Given the description of an element on the screen output the (x, y) to click on. 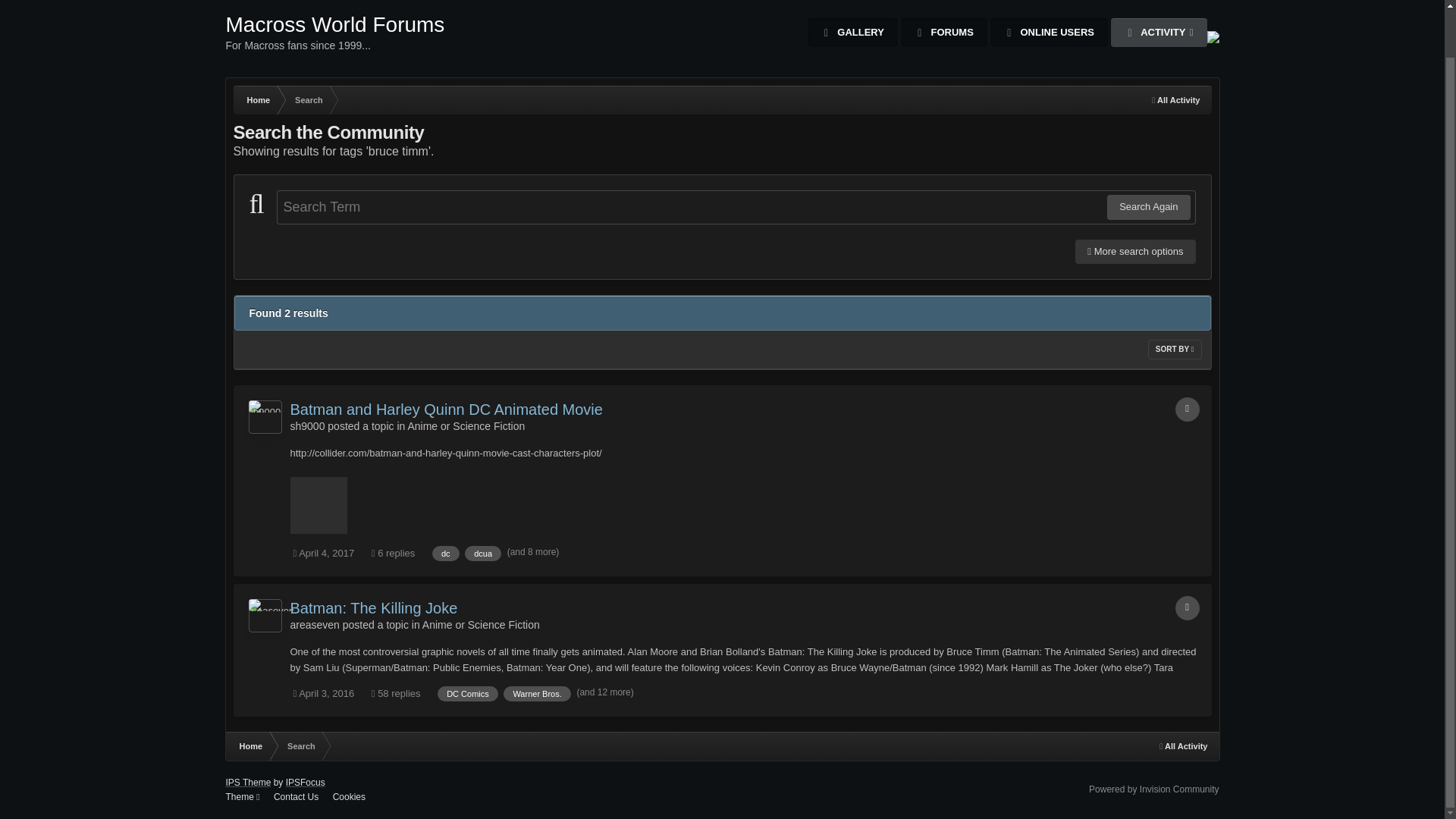
Home (257, 99)
Find other content tagged with 'dc' (446, 553)
More search options (1135, 251)
GALLERY (853, 32)
Search Again (1147, 206)
Home (257, 99)
Go to sh9000's profile (306, 426)
Find other content tagged with 'dcua' (482, 553)
FORUMS (335, 38)
All Activity (944, 32)
ACTIVITY (1175, 99)
Go to sh9000's profile (1158, 32)
Search (265, 417)
Topic (307, 99)
